Given the description of an element on the screen output the (x, y) to click on. 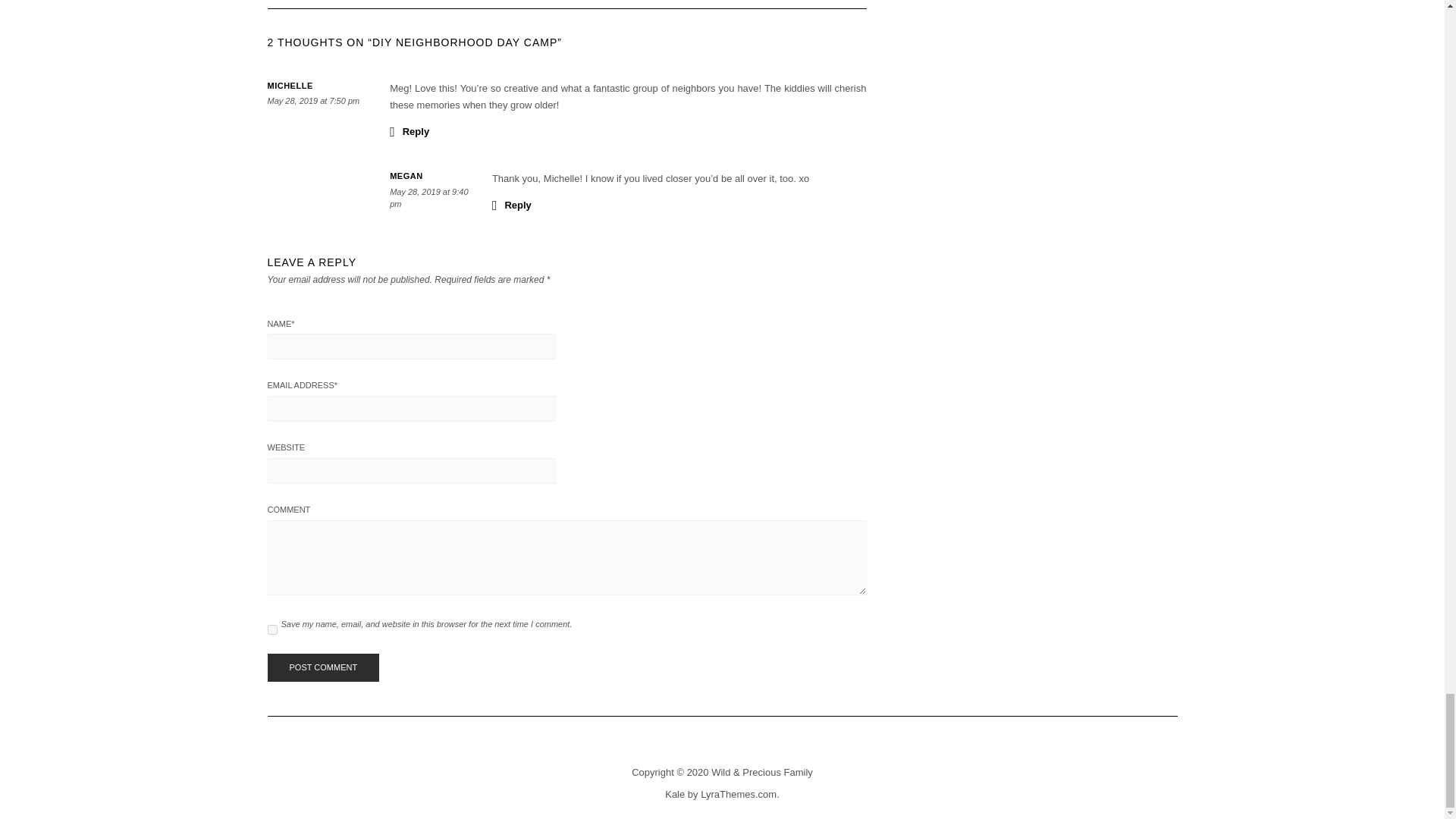
May 28, 2019 at 9:40 pm (428, 197)
May 28, 2019 at 7:50 pm (312, 100)
Post Comment (322, 667)
yes (271, 629)
Reply (409, 130)
Reply (511, 204)
Post Comment (322, 667)
